Given the description of an element on the screen output the (x, y) to click on. 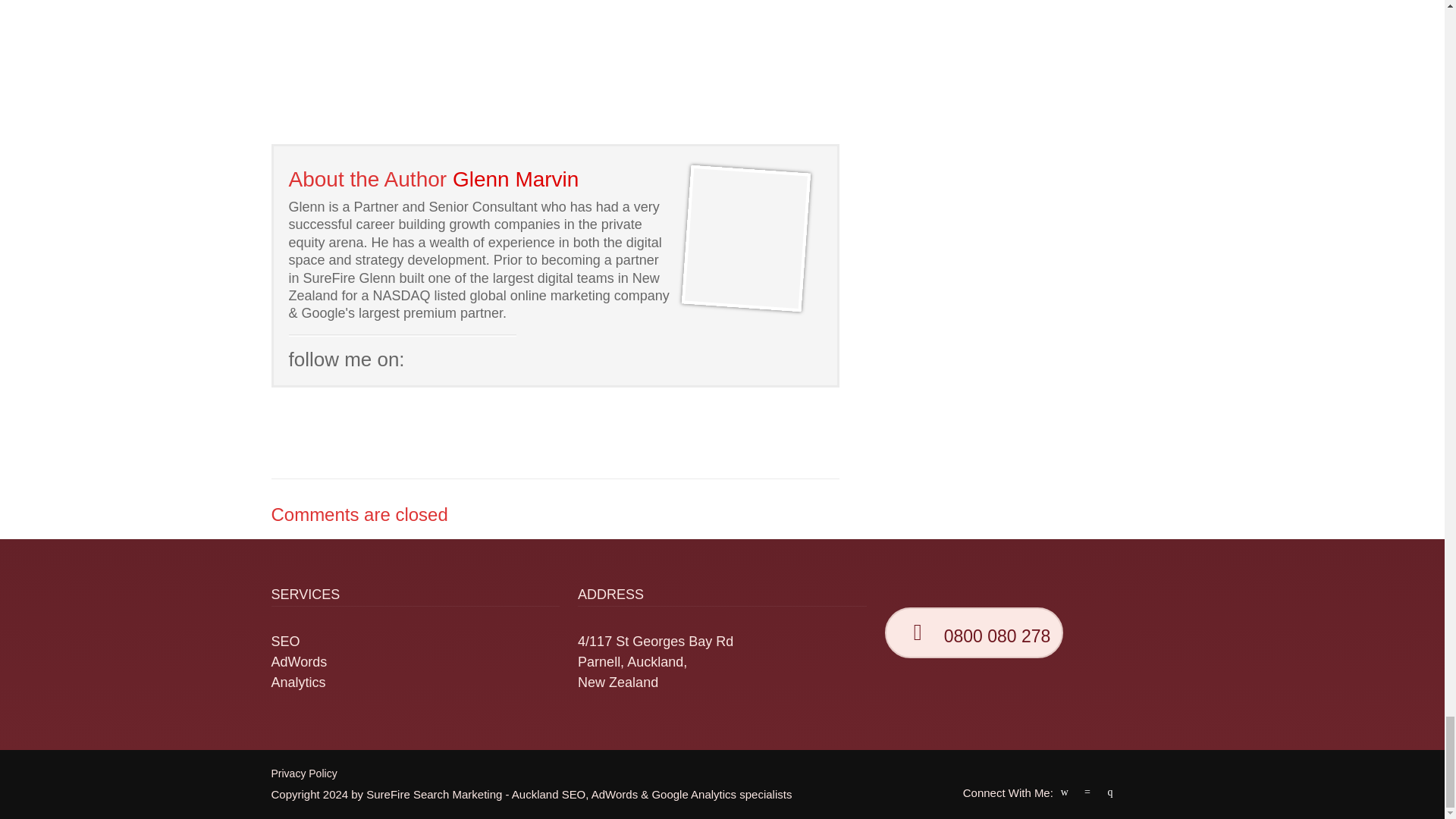
0800 080 278 (974, 632)
Analytics (298, 682)
Google Analytics (693, 793)
SEO (284, 641)
Privacy Policy (303, 773)
Auckland SEO (548, 793)
Glenn Marvin (515, 178)
AdWords (614, 793)
AdWords (298, 661)
